Given the description of an element on the screen output the (x, y) to click on. 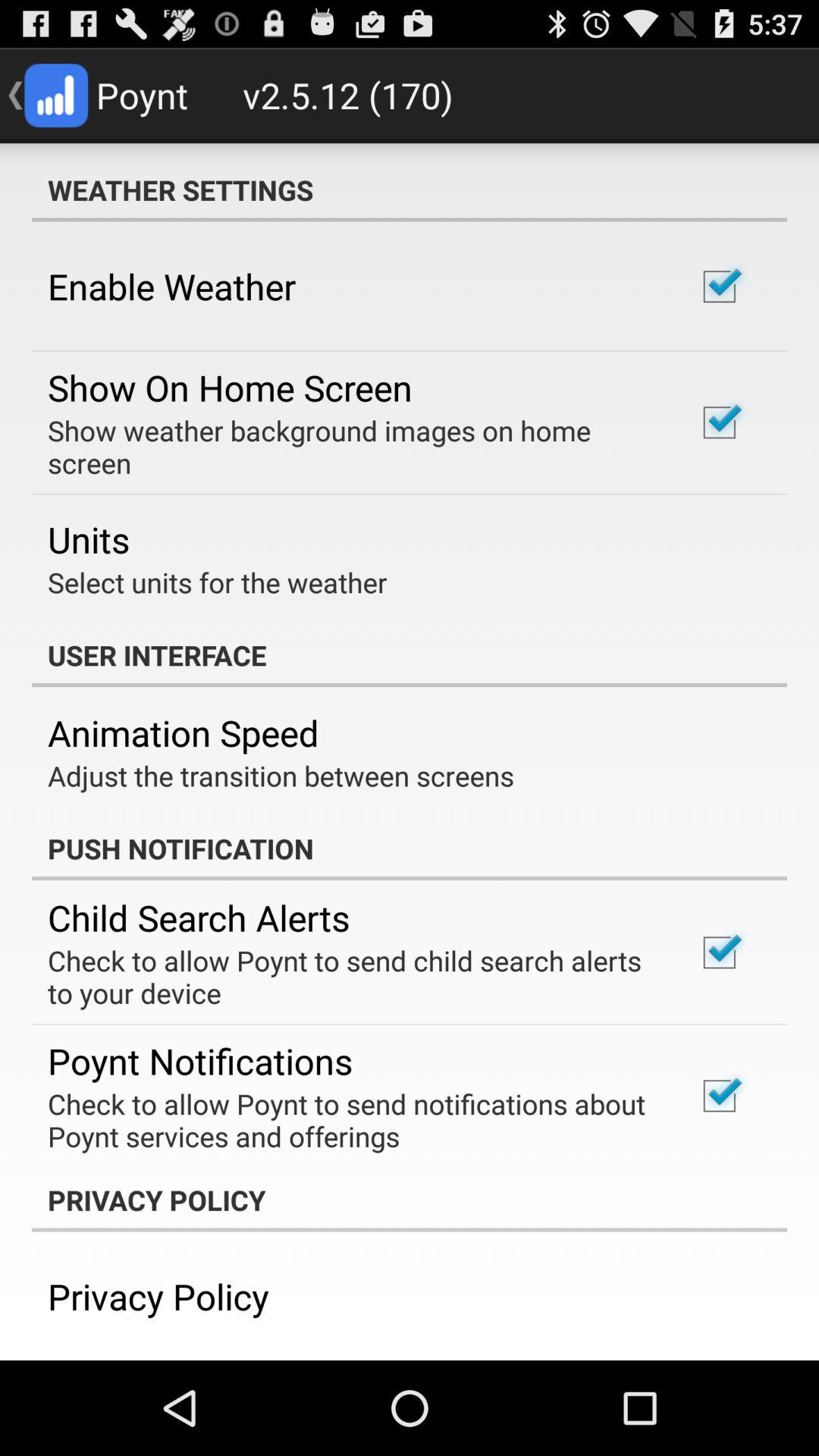
jump until the enable weather item (171, 286)
